Given the description of an element on the screen output the (x, y) to click on. 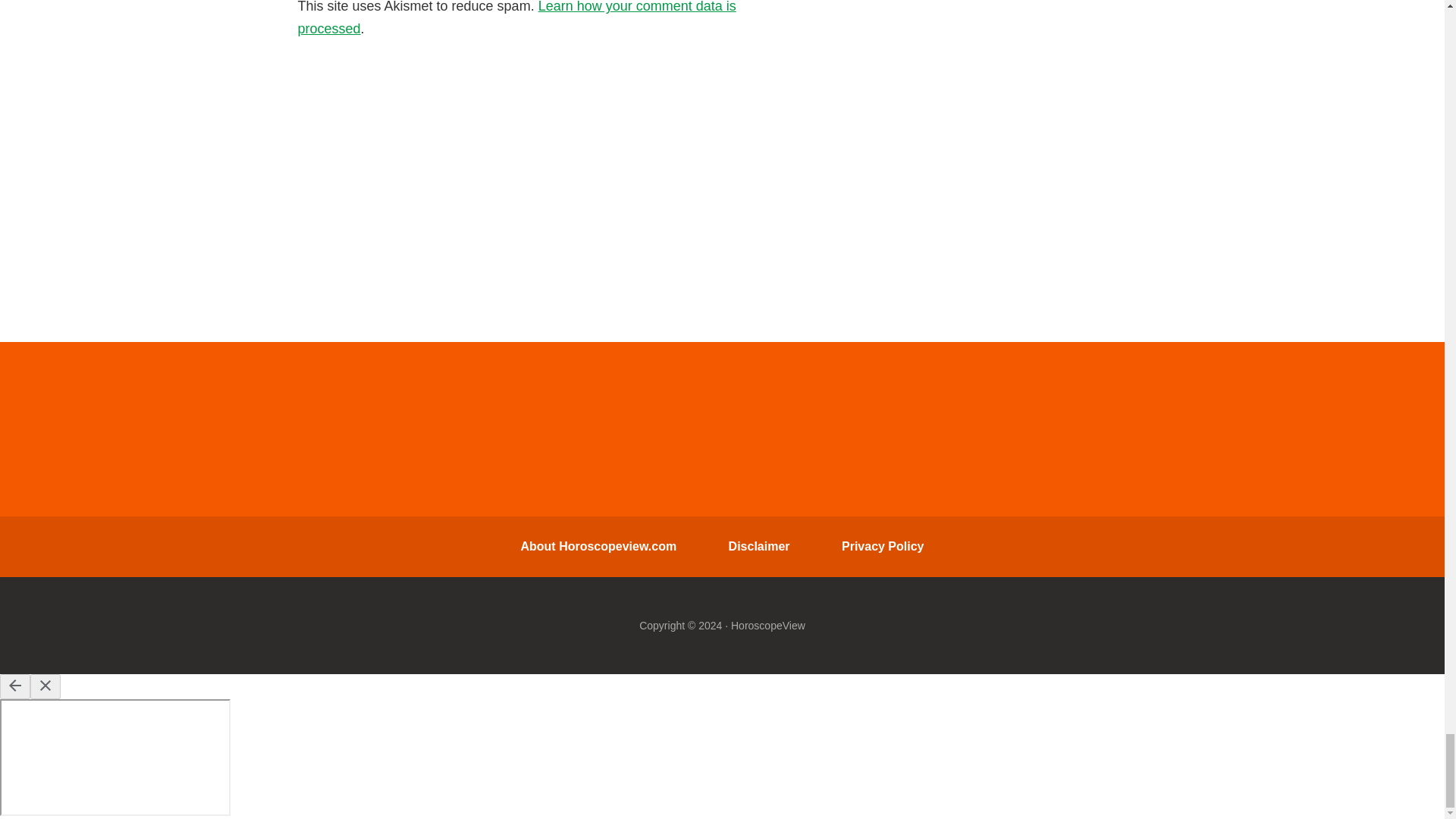
Learn how your comment data is processed (516, 18)
